Given the description of an element on the screen output the (x, y) to click on. 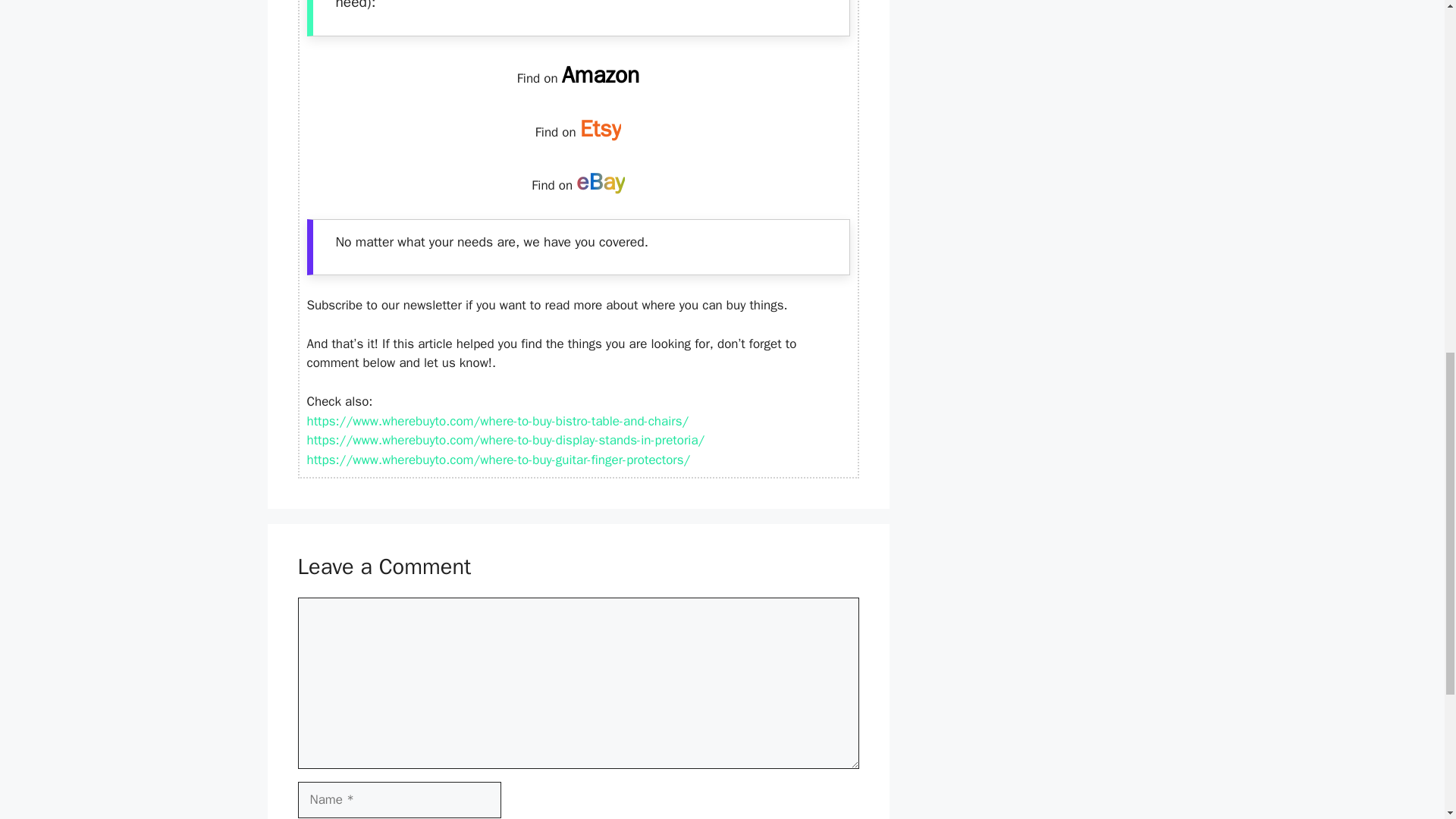
Etsy (600, 128)
eBay (600, 181)
Amazon (600, 74)
